Given the description of an element on the screen output the (x, y) to click on. 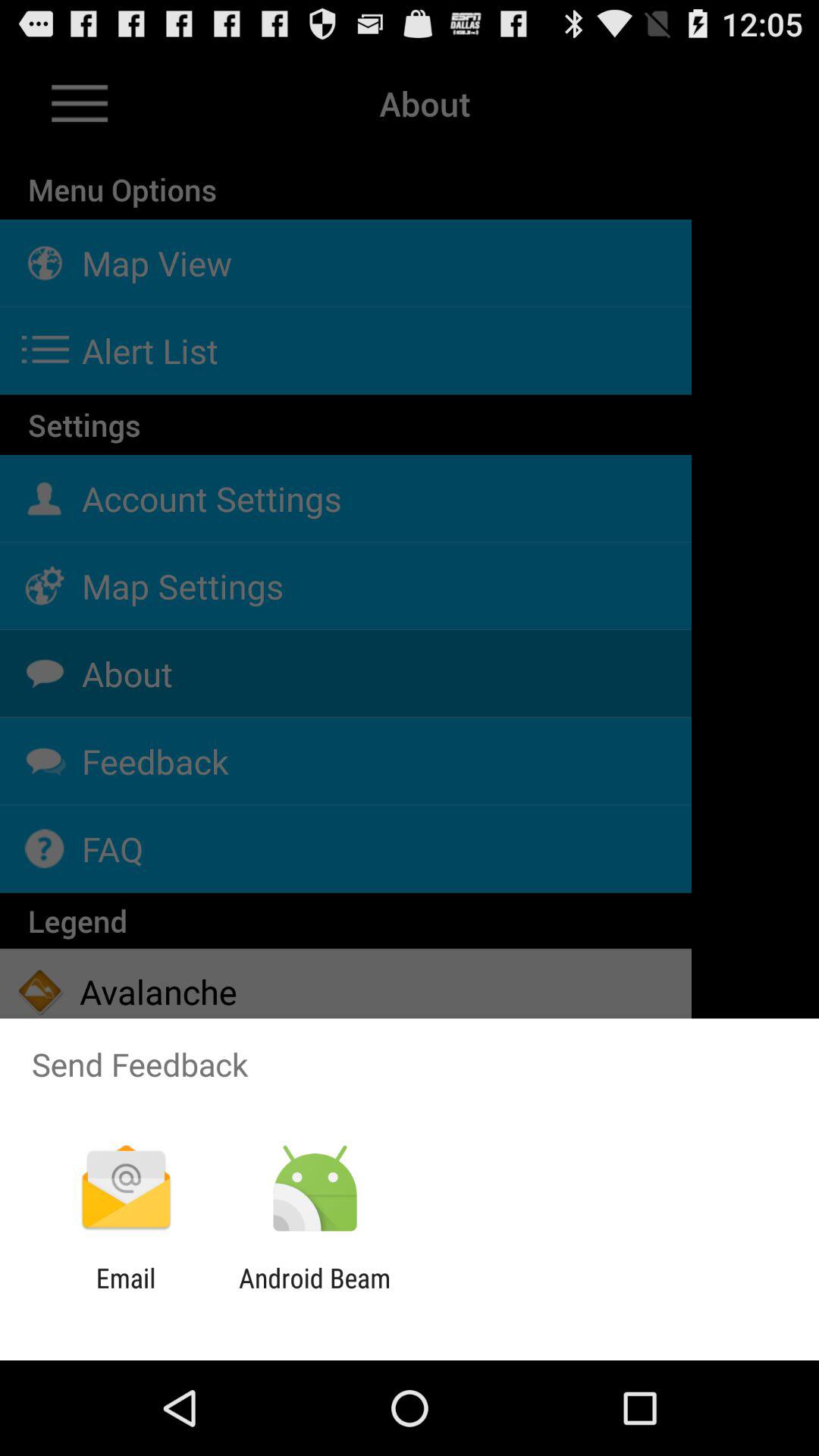
choose app next to the android beam (125, 1293)
